Given the description of an element on the screen output the (x, y) to click on. 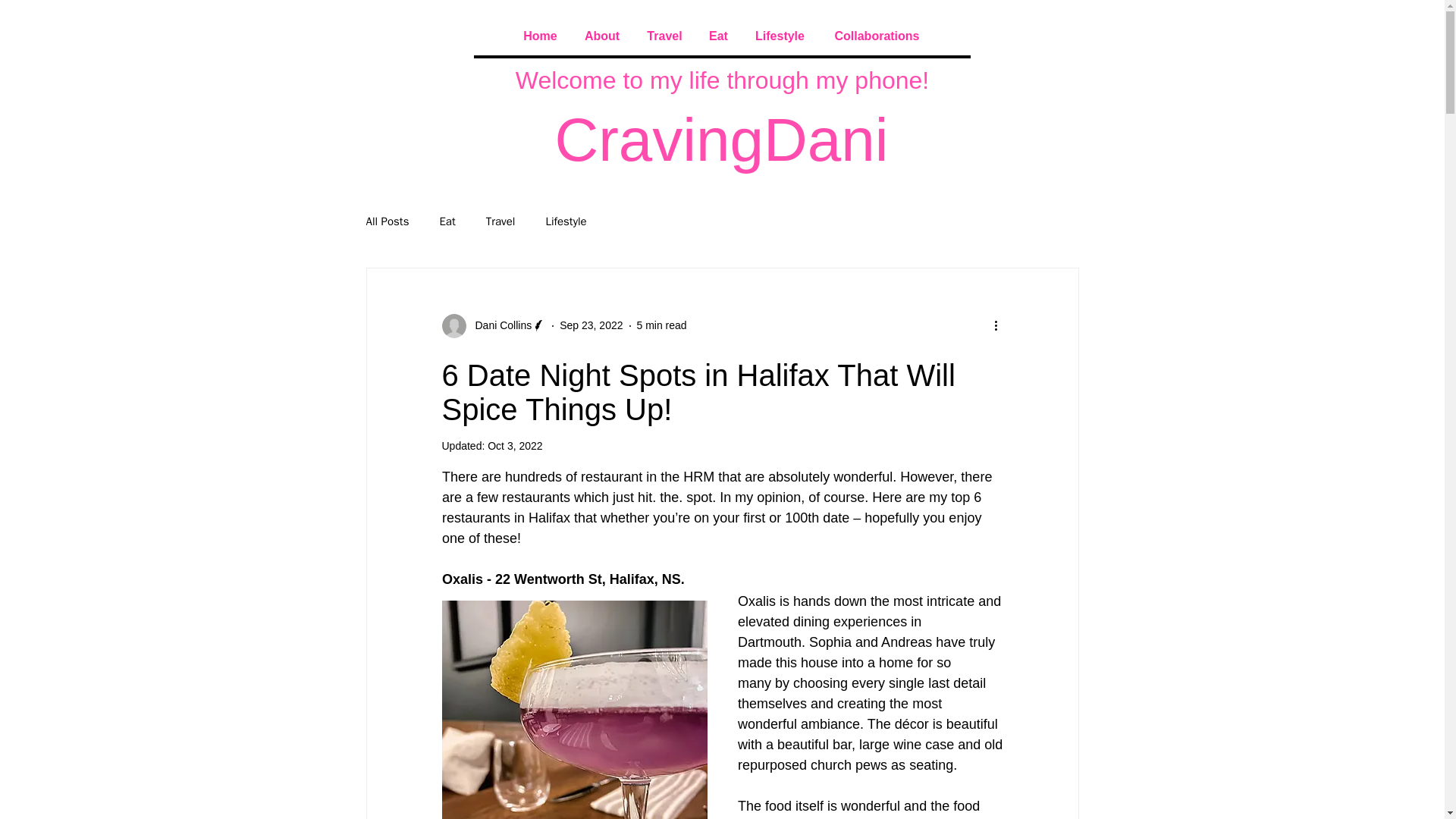
Oct 3, 2022 (514, 445)
Dani Collins (498, 325)
Home (539, 35)
All Posts (387, 221)
About (600, 35)
Lifestyle (565, 221)
5 min read (662, 325)
Travel (663, 35)
Travel (500, 221)
Sep 23, 2022 (591, 325)
